Given the description of an element on the screen output the (x, y) to click on. 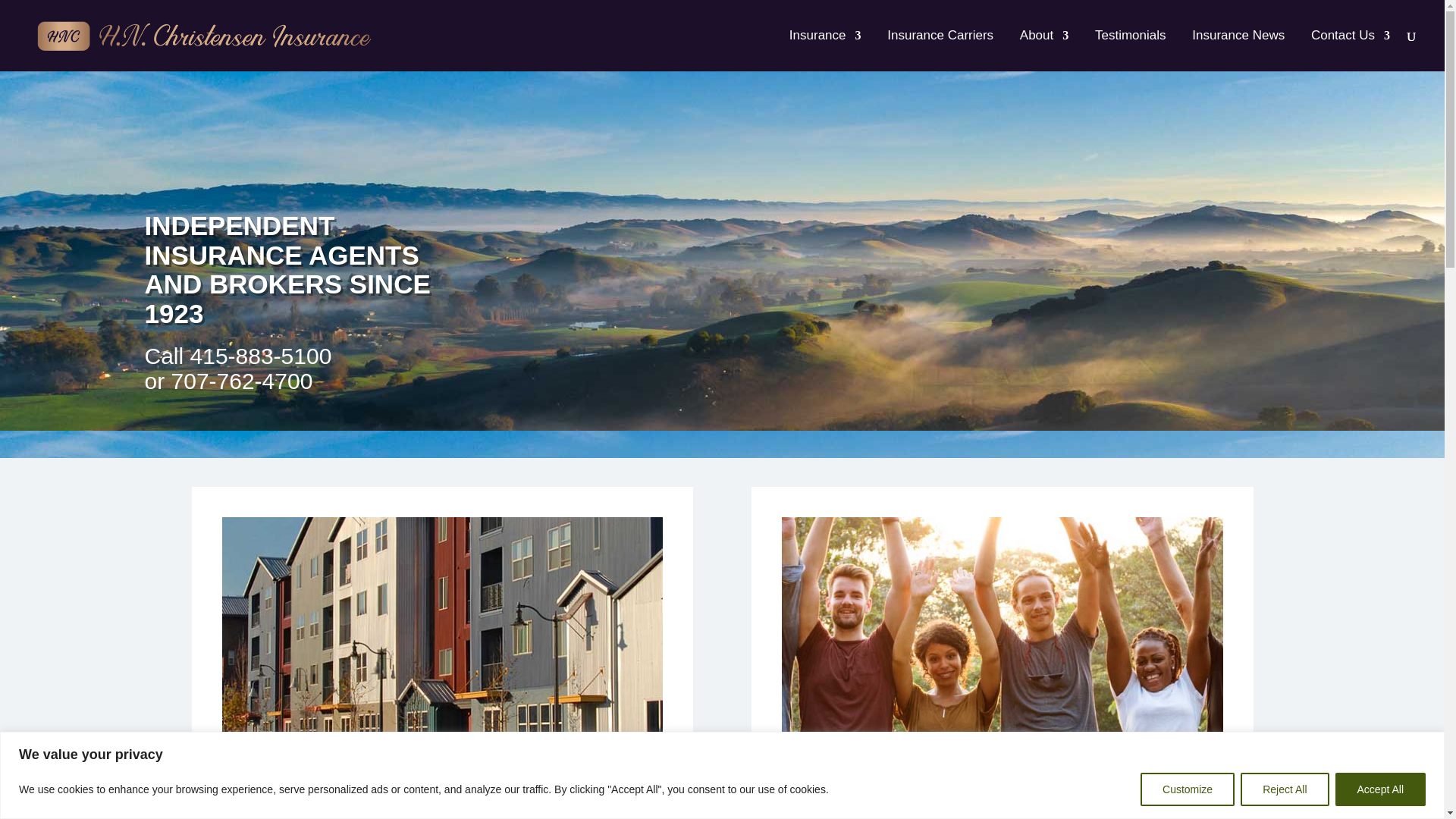
Reject All (1283, 788)
Insurance (825, 50)
About (1044, 50)
Customize (1187, 788)
Insurance Carriers (939, 50)
Accept All (1380, 788)
Testimonials (1130, 50)
Insurance News (1238, 50)
Contact Us (1350, 50)
